Given the description of an element on the screen output the (x, y) to click on. 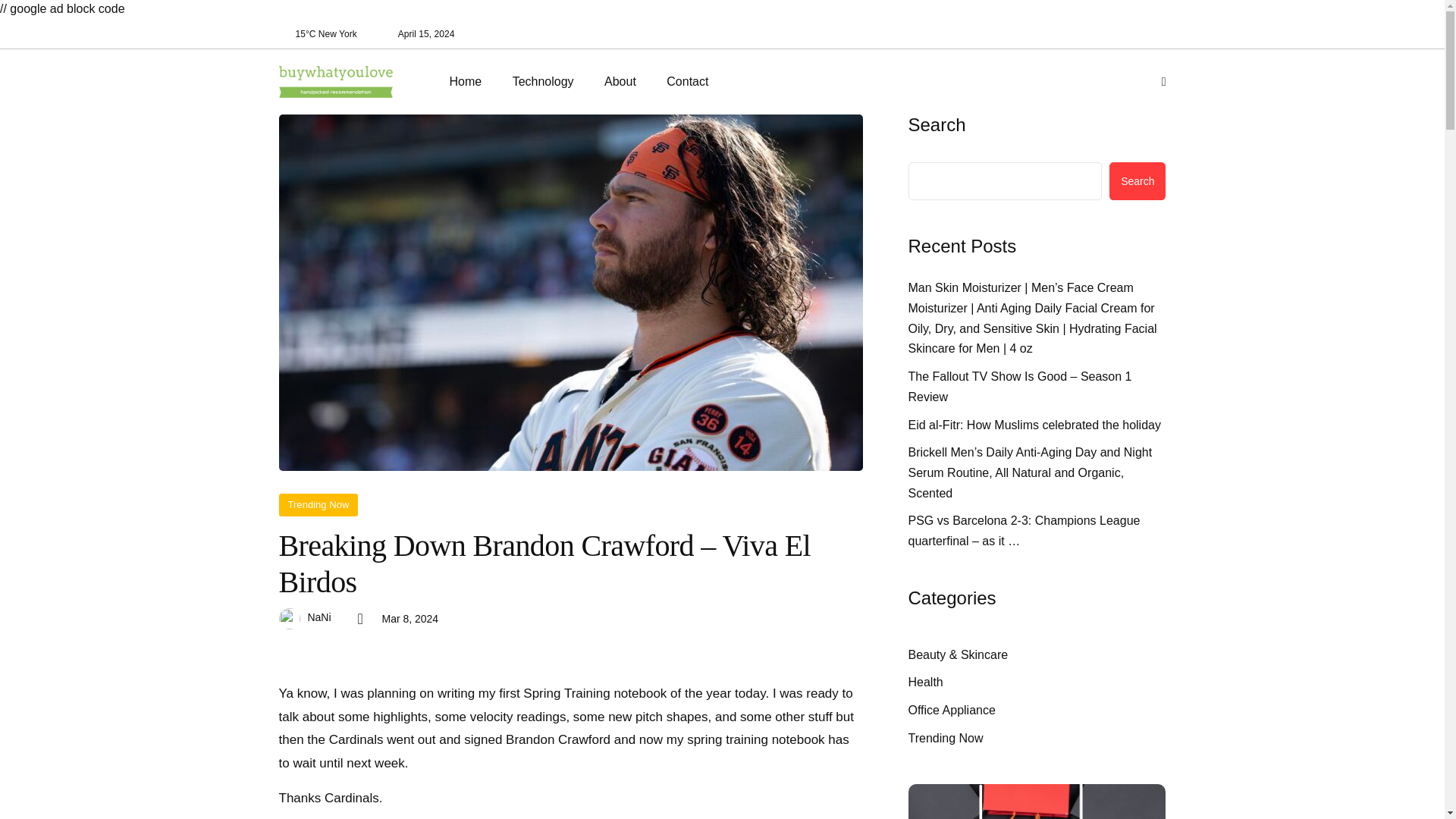
Health (925, 682)
Contact (687, 81)
Technology (543, 81)
Eid al-Fitr: How Muslims celebrated the holiday (1034, 425)
Trending Now (318, 504)
About (620, 81)
NaNi (319, 616)
Search (1137, 180)
Trending Now (946, 738)
Home (471, 81)
Office Appliance (951, 711)
